Given the description of an element on the screen output the (x, y) to click on. 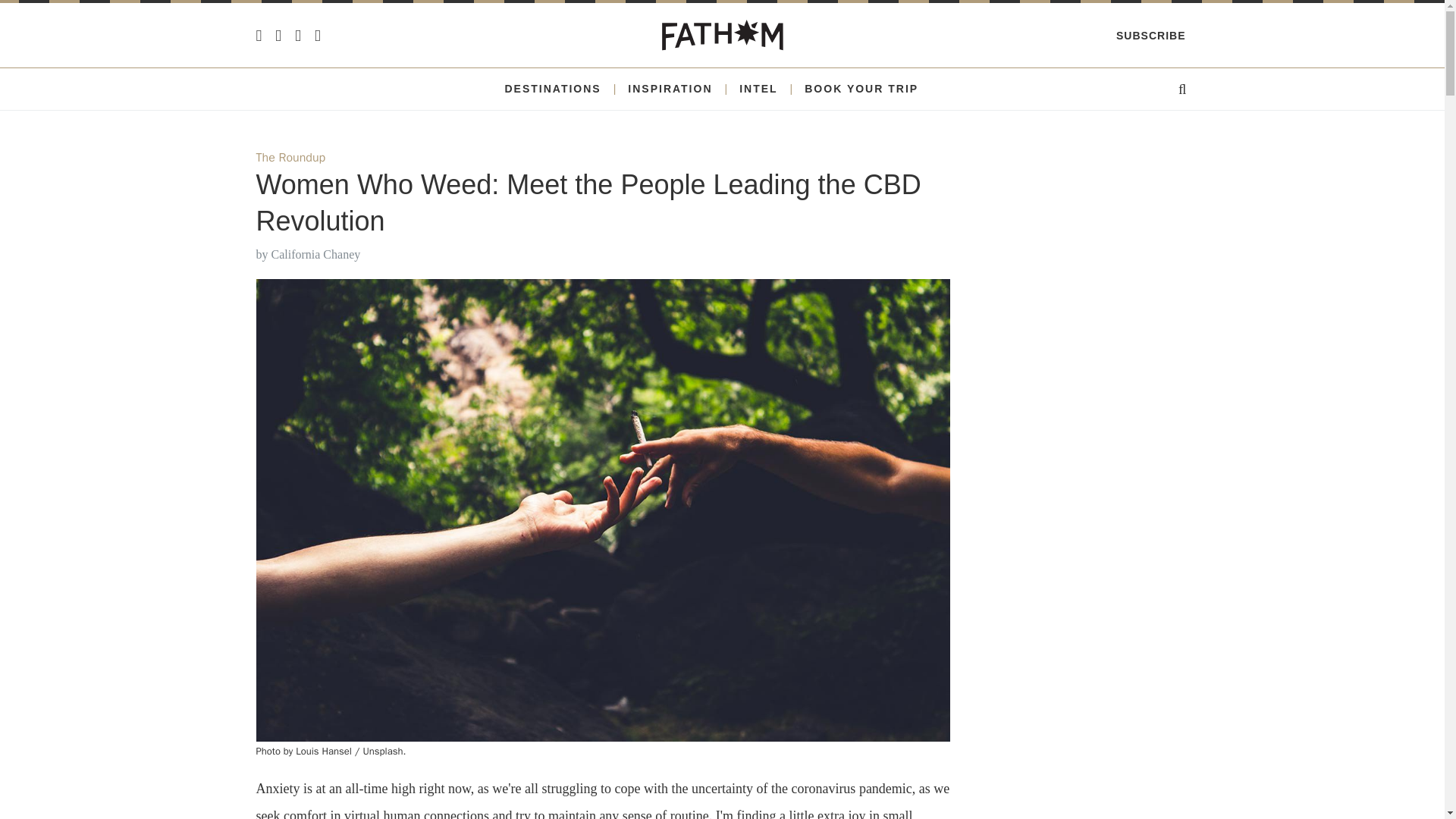
BOOK YOUR TRIP (861, 89)
INSPIRATION (669, 89)
California Chaney (315, 254)
SUBSCRIBE (1150, 34)
DESTINATIONS (551, 89)
3rd party ad content (1085, 248)
INTEL (758, 89)
The Roundup (291, 157)
